Given the description of an element on the screen output the (x, y) to click on. 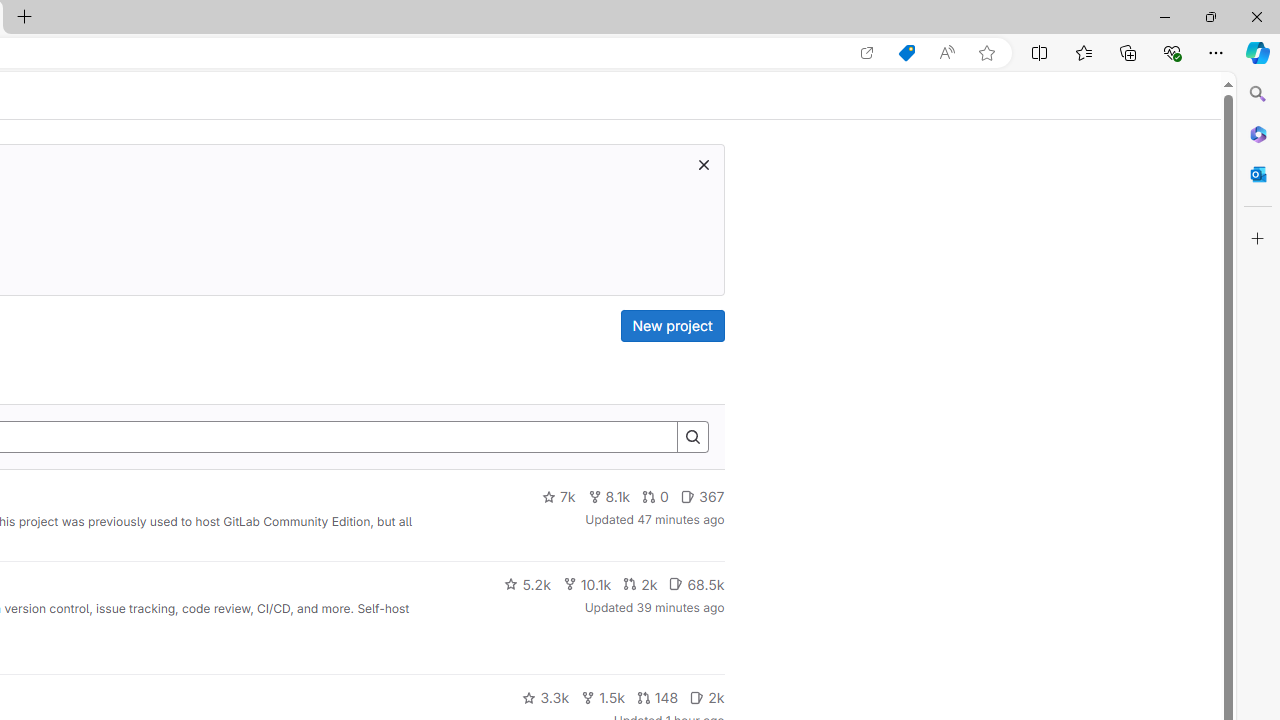
7k (558, 497)
Open in app (867, 53)
3.3k (545, 697)
2k (706, 697)
Dismiss trial promotion (703, 164)
Class: s14 gl-mr-2 (697, 696)
8.1k (609, 497)
68.5k (696, 583)
